Given the description of an element on the screen output the (x, y) to click on. 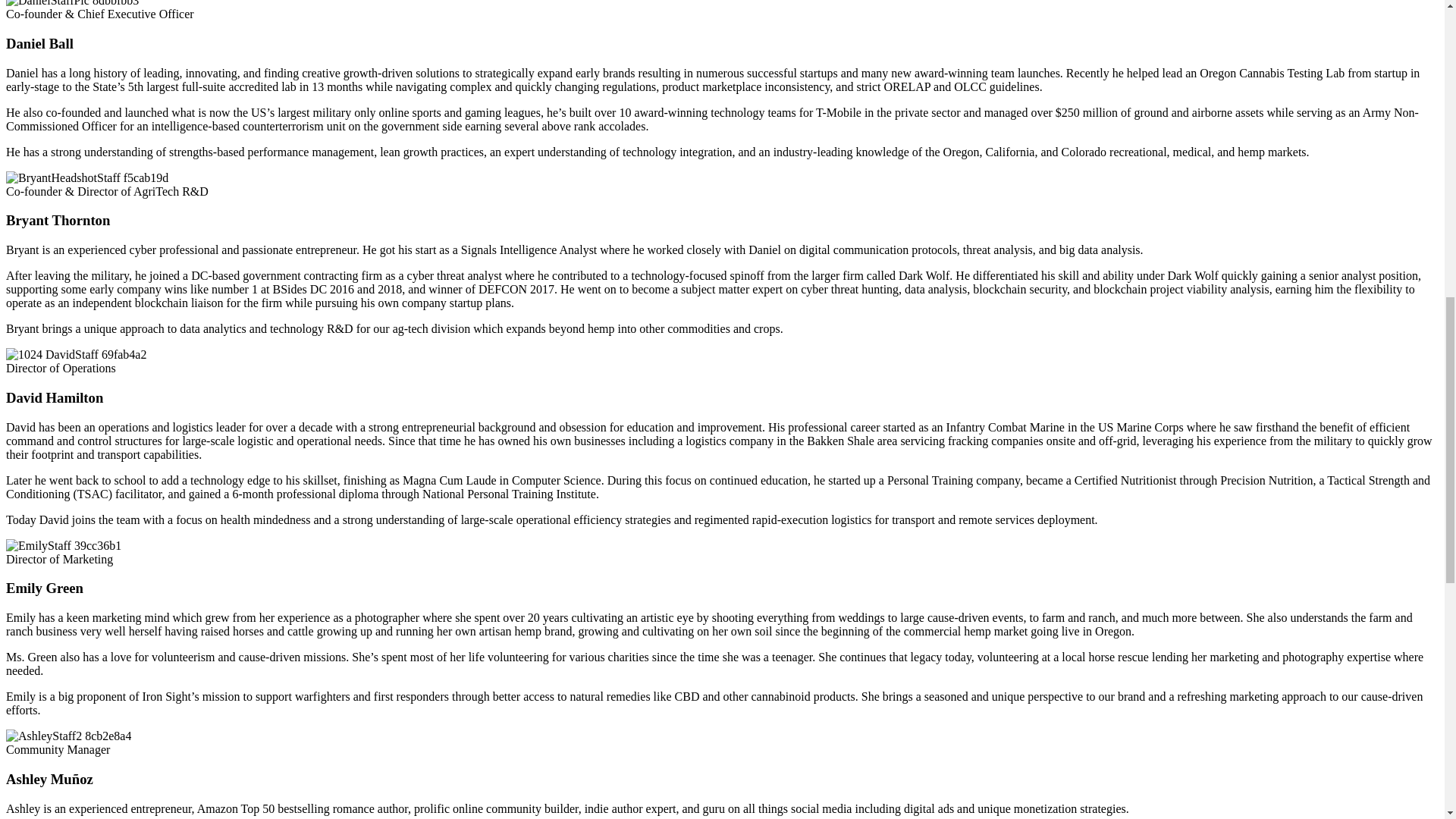
Team 5 (68, 735)
Team 2 (86, 178)
Team 4 (62, 545)
Team 3 (76, 354)
Team 1 (71, 3)
